Given the description of an element on the screen output the (x, y) to click on. 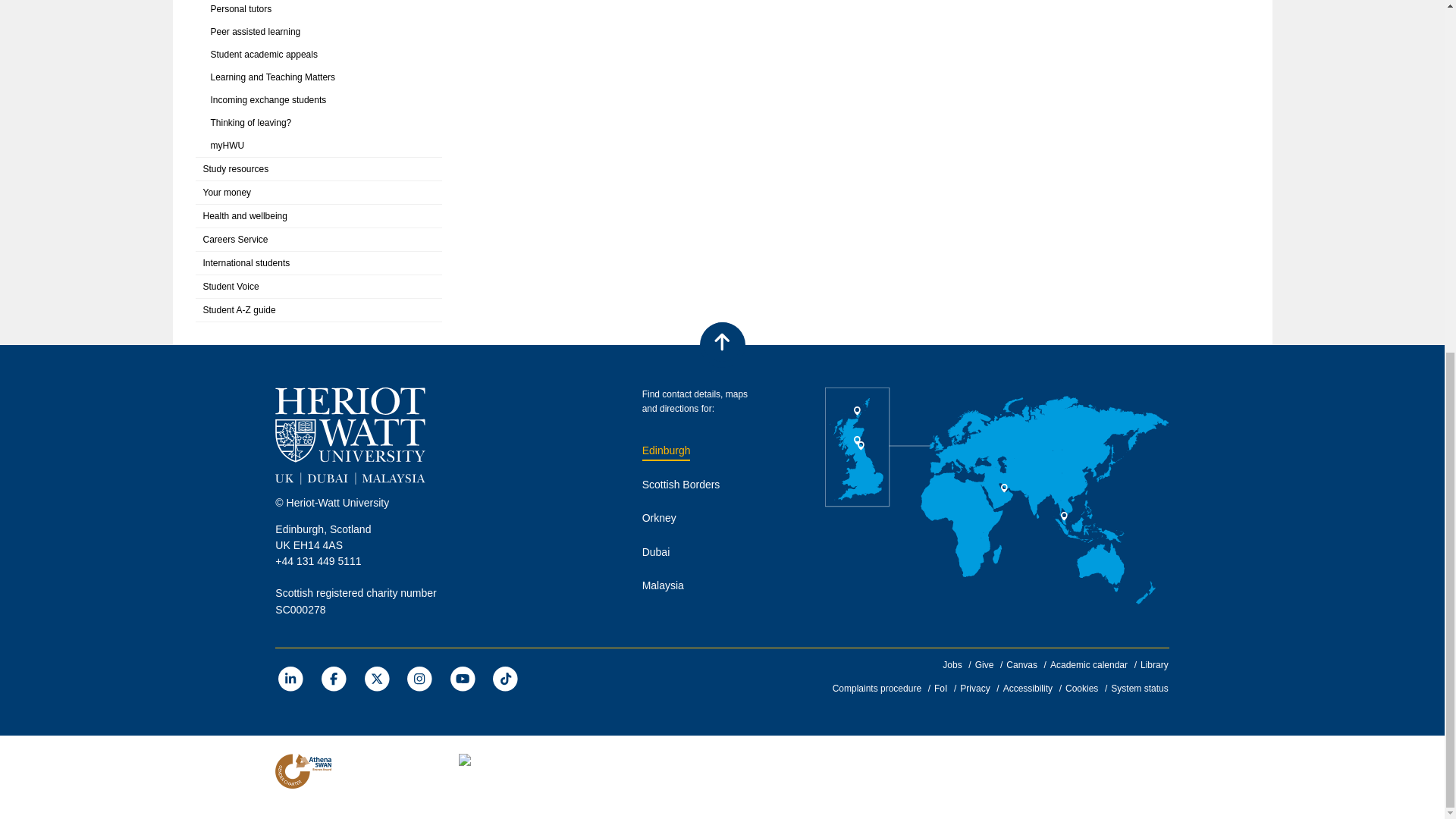
YouTube (462, 678)
LinkedIn (290, 678)
Facebook (334, 678)
Twitter (376, 678)
TikTok (505, 678)
Instagram (419, 678)
